Given the description of an element on the screen output the (x, y) to click on. 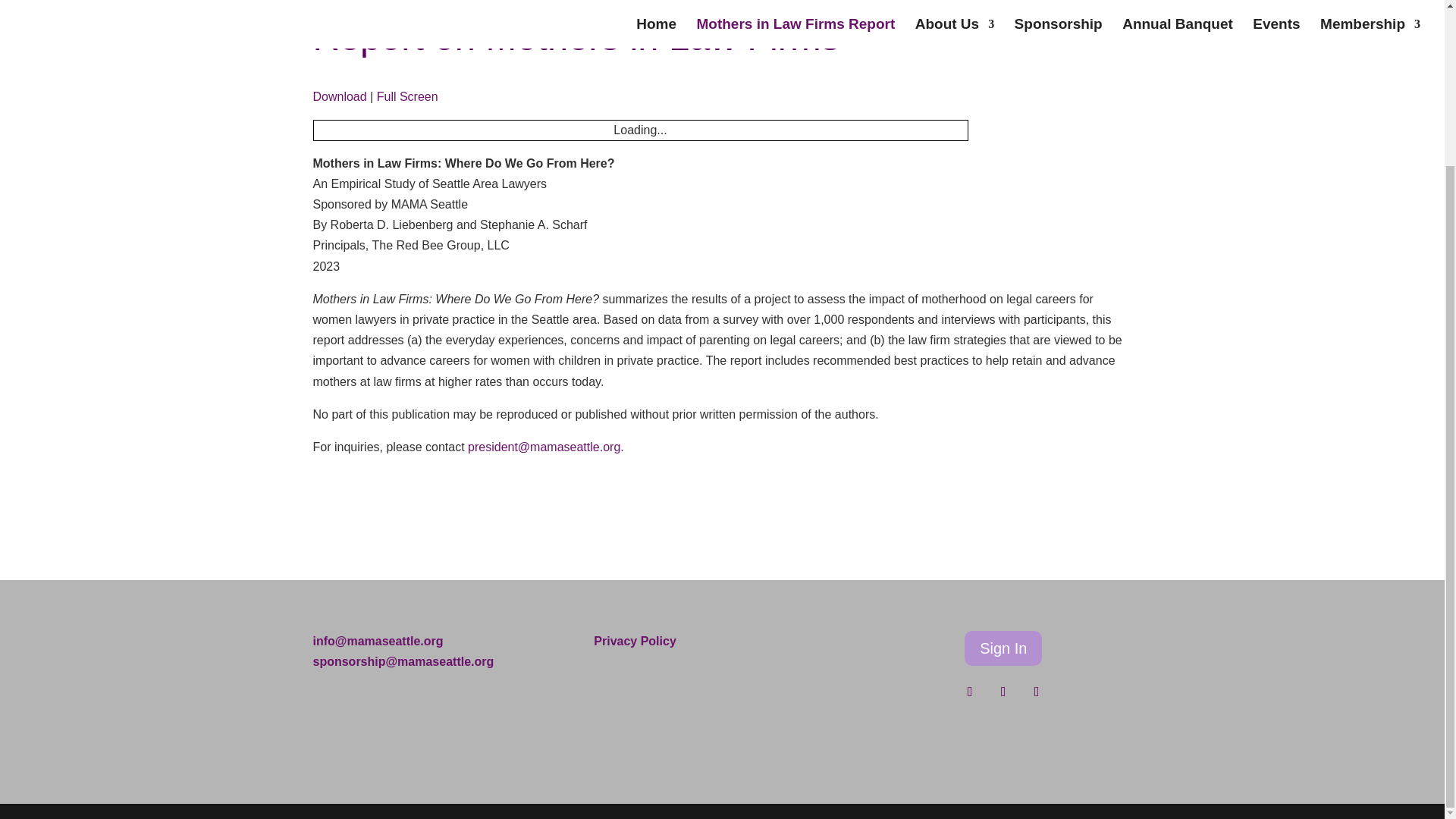
Download (339, 96)
Privacy Policy (635, 640)
Follow on LinkedIn (1036, 691)
Full Screen (407, 96)
Follow on Facebook (970, 691)
Follow on Twitter (1003, 691)
Sign In (1002, 647)
